Given the description of an element on the screen output the (x, y) to click on. 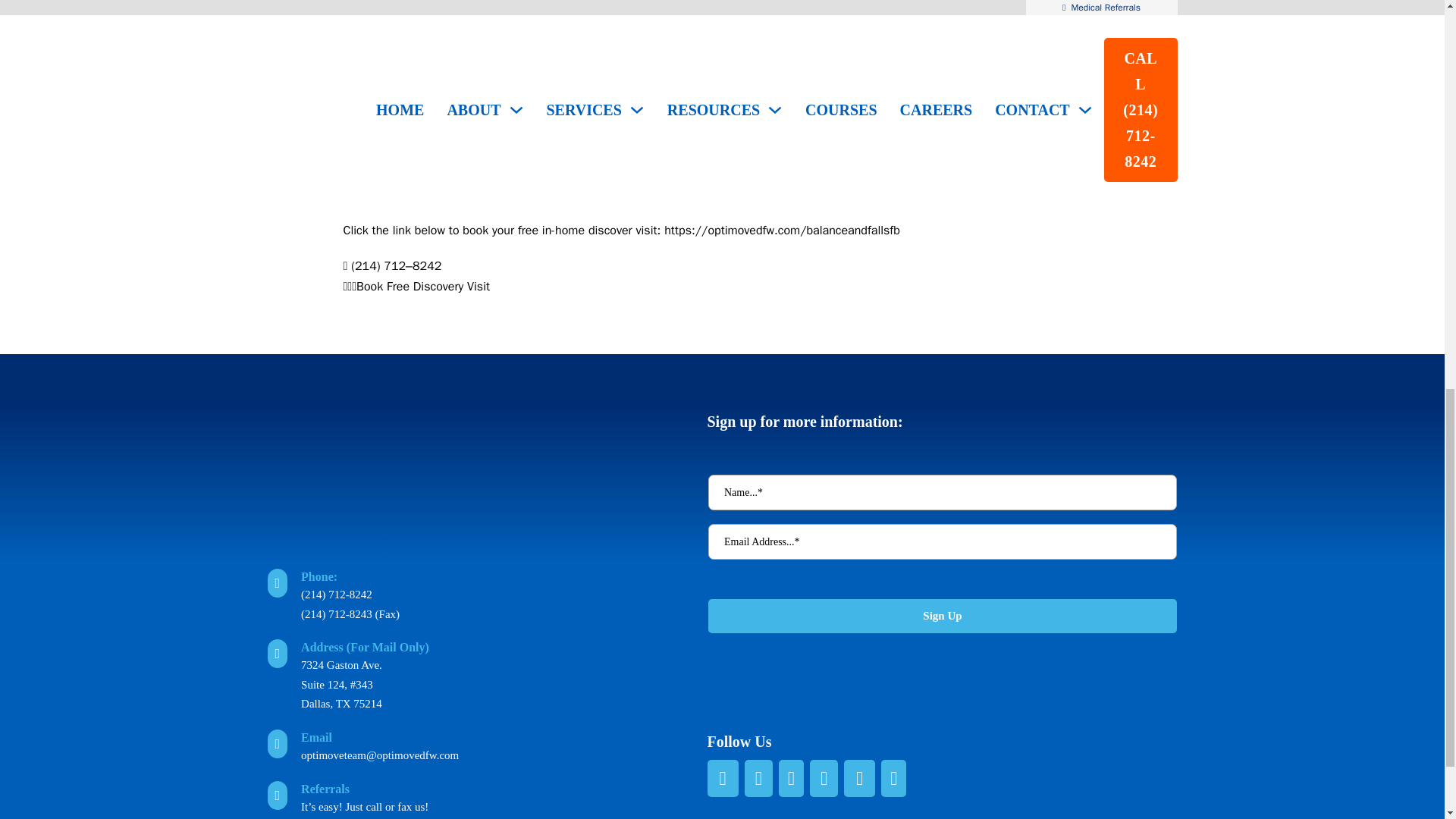
Website Newsletter (941, 574)
